Given the description of an element on the screen output the (x, y) to click on. 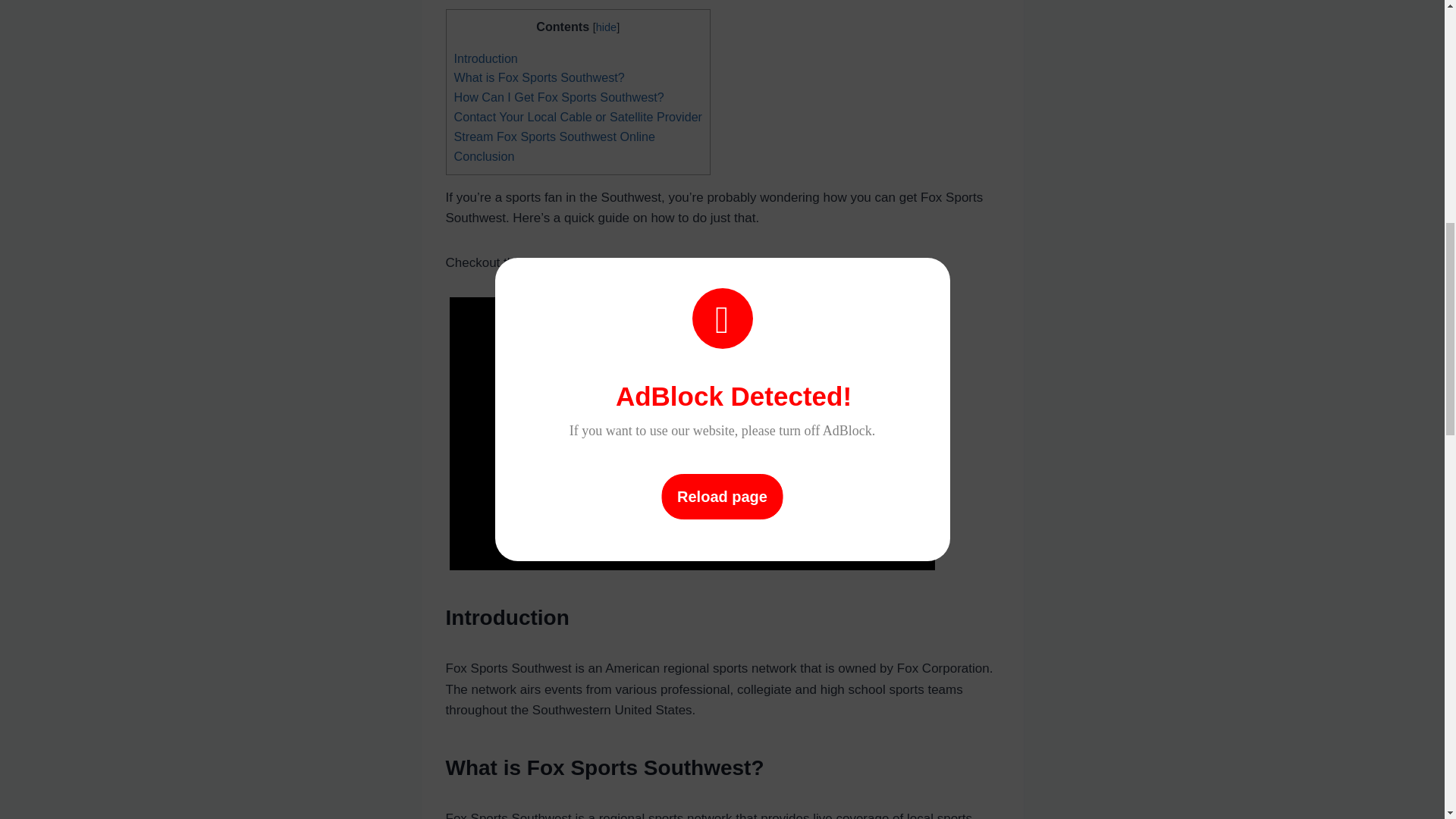
hide (605, 27)
Stream Fox Sports Southwest Online (553, 136)
Introduction (484, 58)
What is Fox Sports Southwest? (538, 77)
How Can I Get Fox Sports Southwest? (557, 97)
Conclusion (482, 155)
Contact Your Local Cable or Satellite Provider (576, 116)
